Given the description of an element on the screen output the (x, y) to click on. 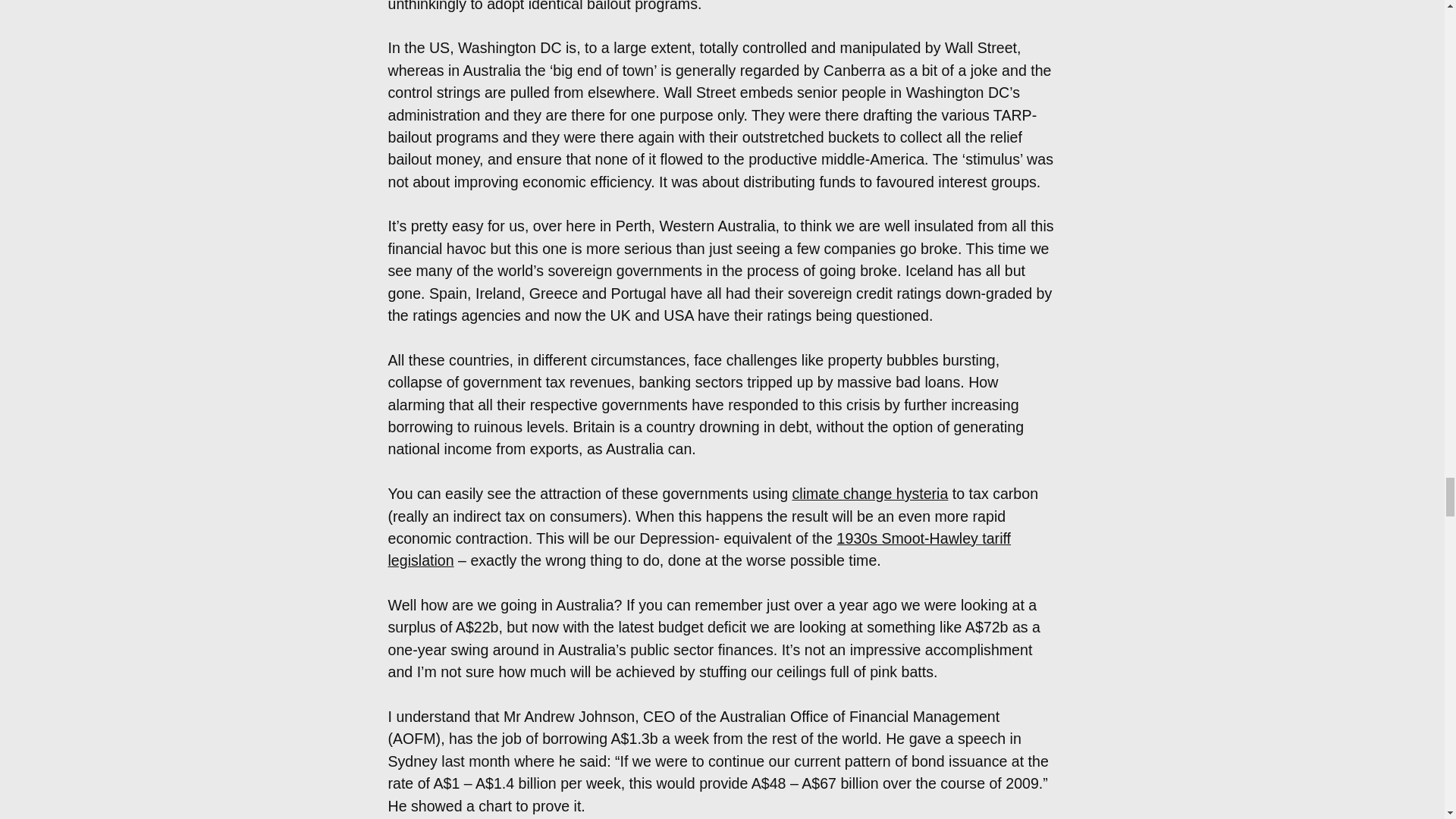
Page 12 (722, 762)
1930s Smoot-Hawley tariff legislation (699, 548)
climate change hysteria (869, 493)
